Given the description of an element on the screen output the (x, y) to click on. 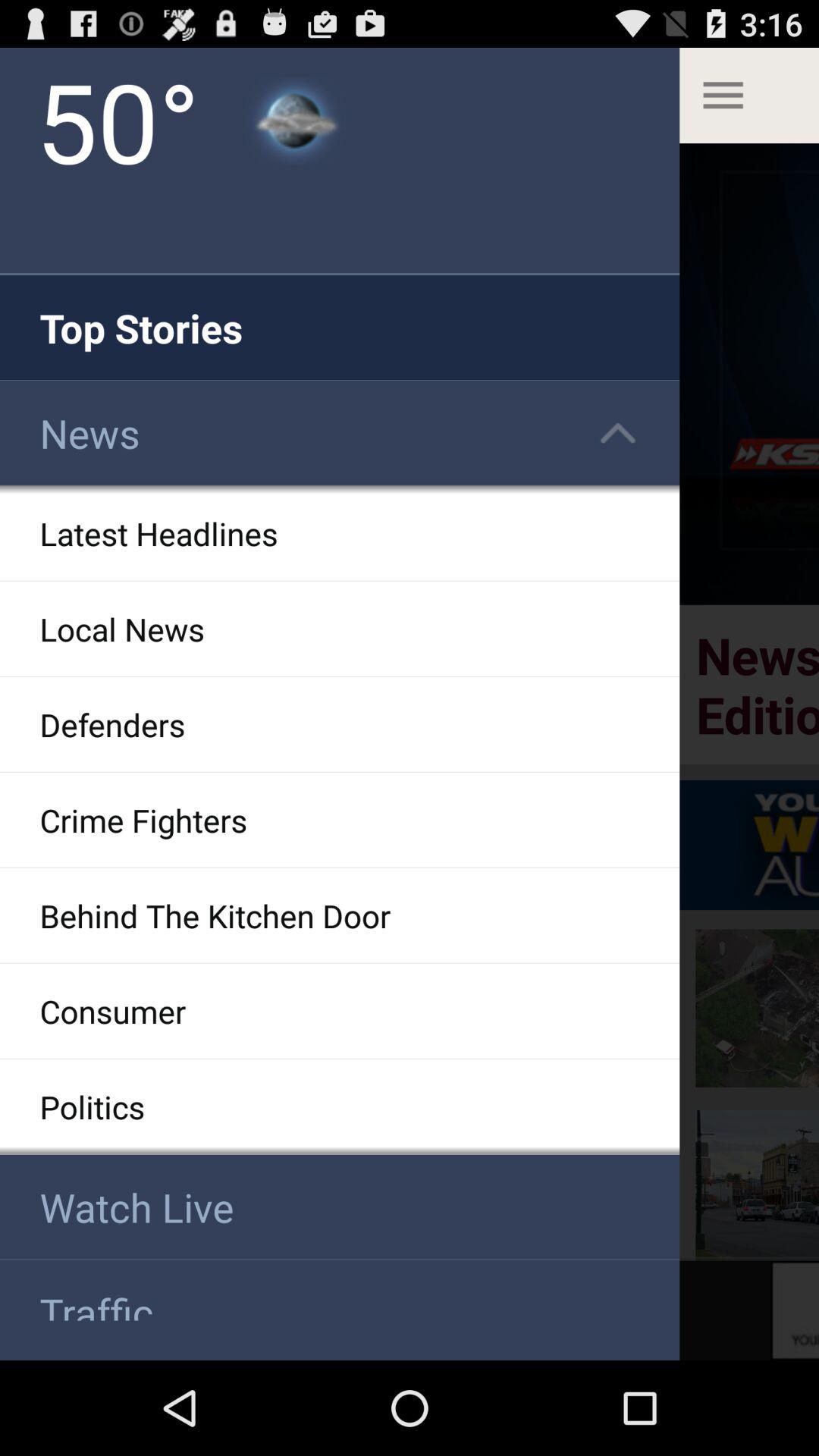
click on the first image on the bottom right corner (757, 1184)
select the image next to 50 degrees (294, 120)
